Given the description of an element on the screen output the (x, y) to click on. 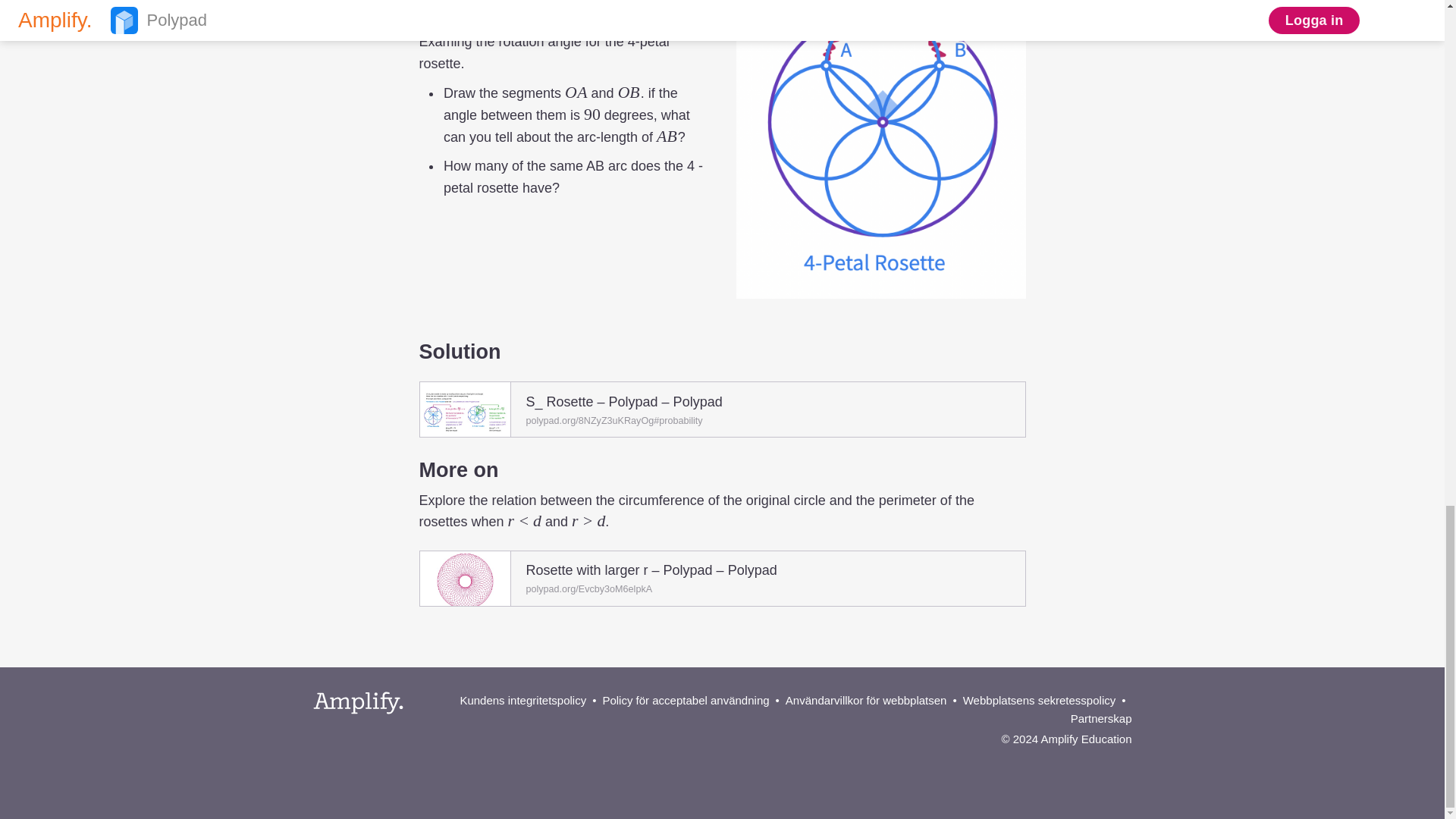
Twitter (1040, 761)
Amplify (358, 702)
Instagram (1092, 761)
Facebook (1067, 761)
YouTube (1118, 761)
